Given the description of an element on the screen output the (x, y) to click on. 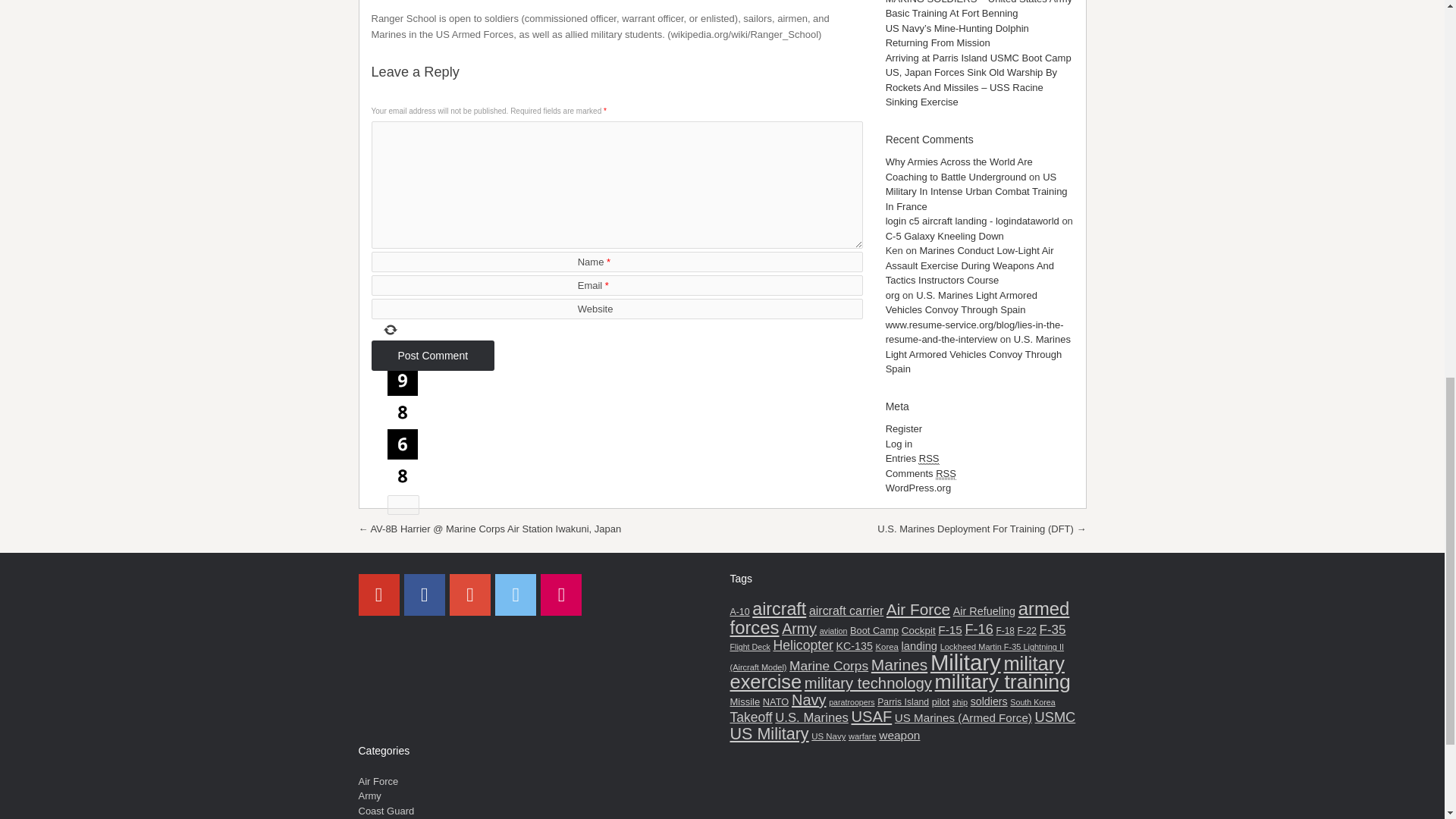
Post Comment (433, 355)
AIIRSOURCE on Facebook (424, 594)
login c5 aircraft landing - logindataworld (972, 220)
AIIRSOURCE on Youtube (378, 594)
org (892, 295)
AIIRSOURCE on Twitter (515, 594)
AIIRSOURCE on Google Plus (469, 594)
Really Simple Syndication (928, 458)
Arriving at Parris Island USMC Boot Camp (978, 57)
AIIRSOURCE on Flickr (560, 594)
US Military In Intense Urban Combat Training In France (976, 191)
Really Simple Syndication (946, 473)
C-5 Galaxy Kneeling Down (944, 235)
